Given the description of an element on the screen output the (x, y) to click on. 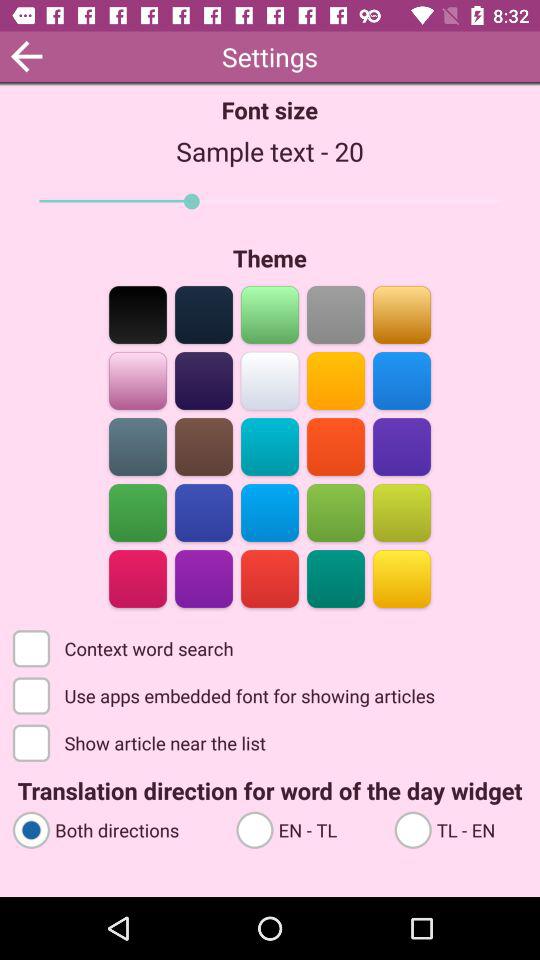
go to previous screen (26, 56)
